Given the description of an element on the screen output the (x, y) to click on. 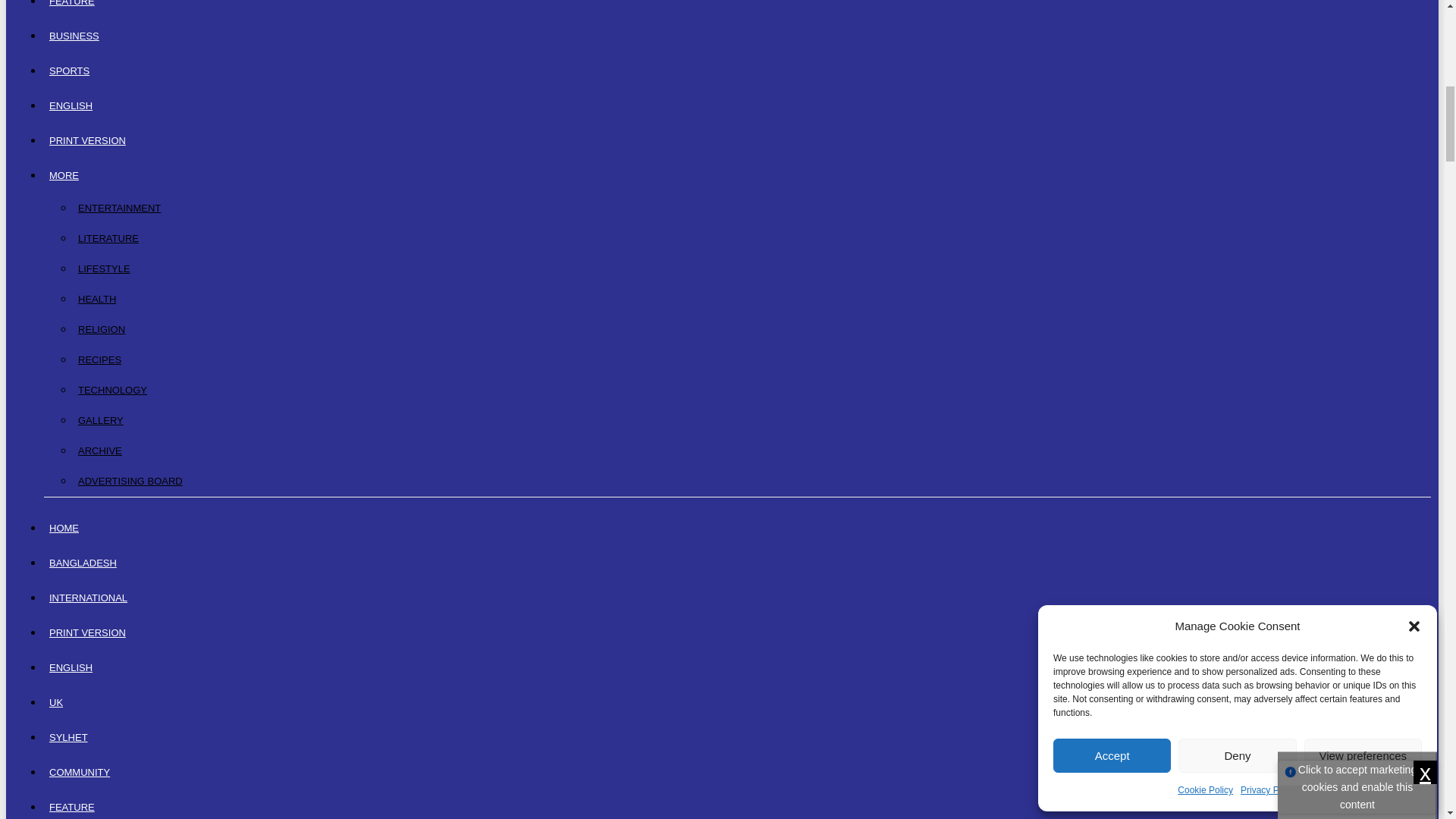
FEATURE (71, 9)
